Given the description of an element on the screen output the (x, y) to click on. 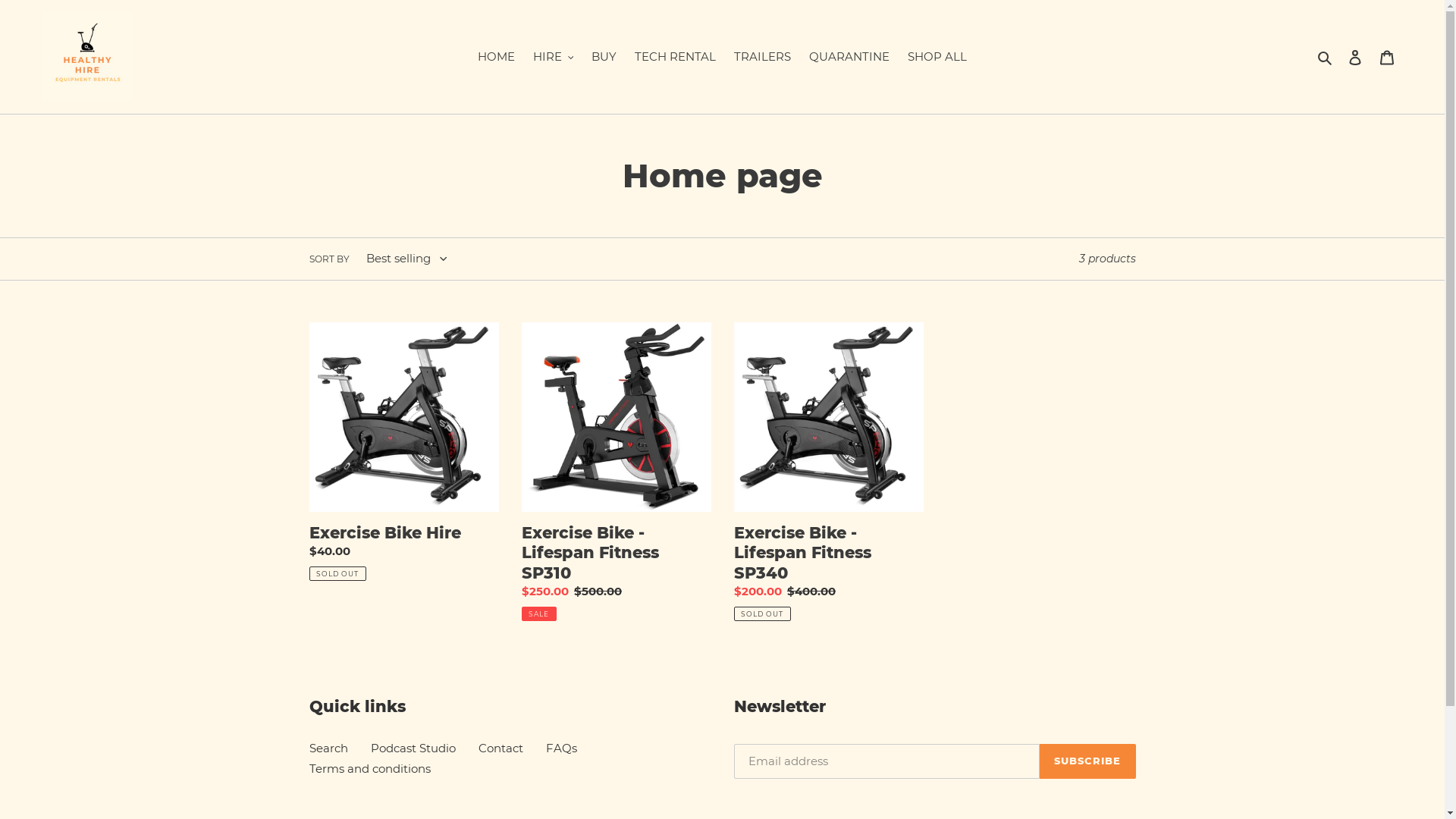
FAQs Element type: text (561, 747)
Exercise Bike Hire Element type: text (403, 451)
Contact Element type: text (499, 747)
Podcast Studio Element type: text (412, 747)
Cart Element type: text (1386, 56)
HOME Element type: text (496, 57)
SHOP ALL Element type: text (937, 57)
Exercise Bike - Lifespan Fitness SP310 Element type: text (616, 471)
BUY Element type: text (603, 57)
TECH RENTAL Element type: text (675, 57)
SUBSCRIBE Element type: text (1087, 760)
QUARANTINE Element type: text (849, 57)
HIRE Element type: text (553, 57)
Terms and conditions Element type: text (369, 768)
Exercise Bike - Lifespan Fitness SP340 Element type: text (828, 471)
Log in Element type: text (1355, 56)
Search Element type: text (1325, 56)
Search Element type: text (328, 747)
TRAILERS Element type: text (762, 57)
